Given the description of an element on the screen output the (x, y) to click on. 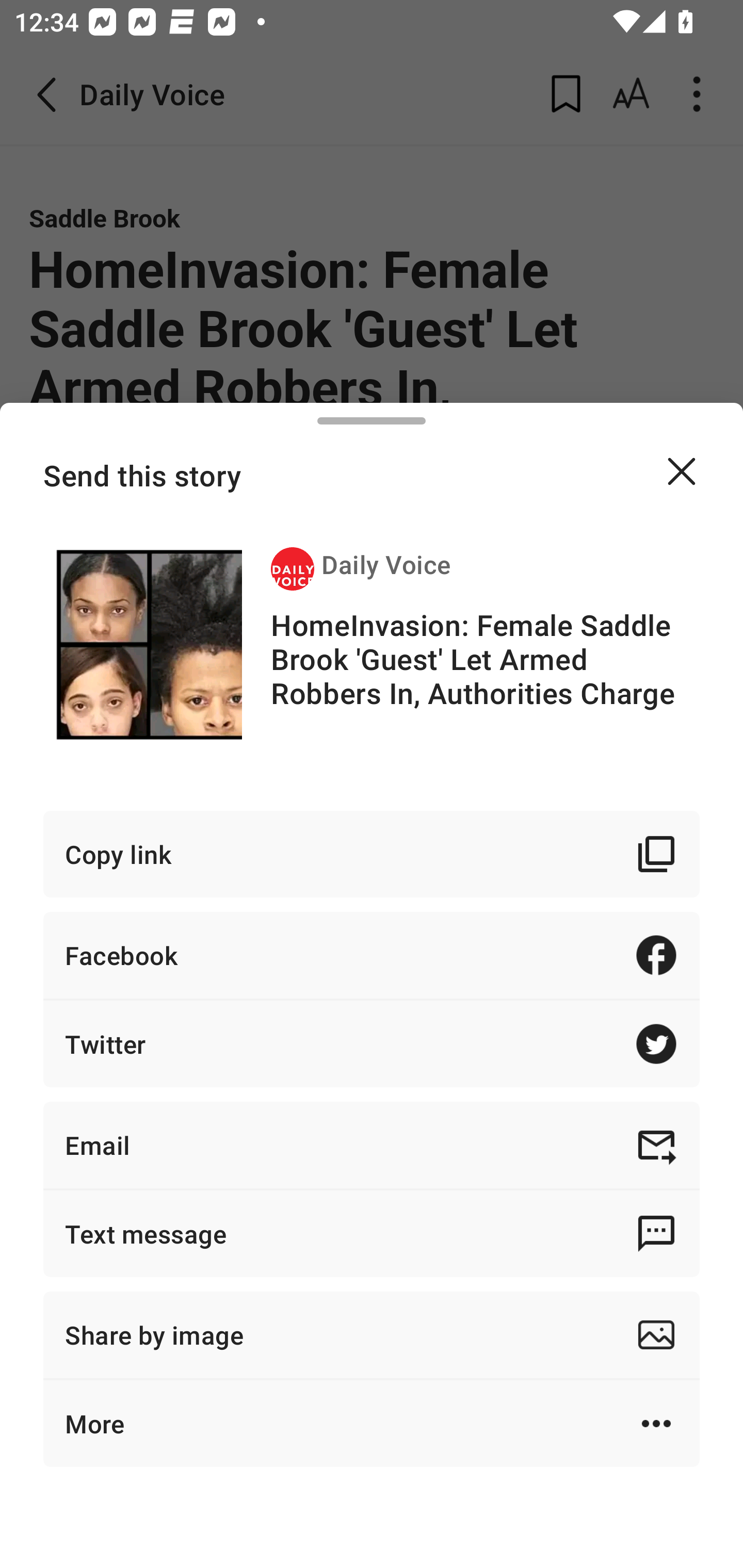
Copy link (371, 853)
Facebook (371, 955)
Twitter (371, 1043)
Email (371, 1145)
Text message (371, 1233)
Share by image (371, 1335)
More (371, 1423)
